Given the description of an element on the screen output the (x, y) to click on. 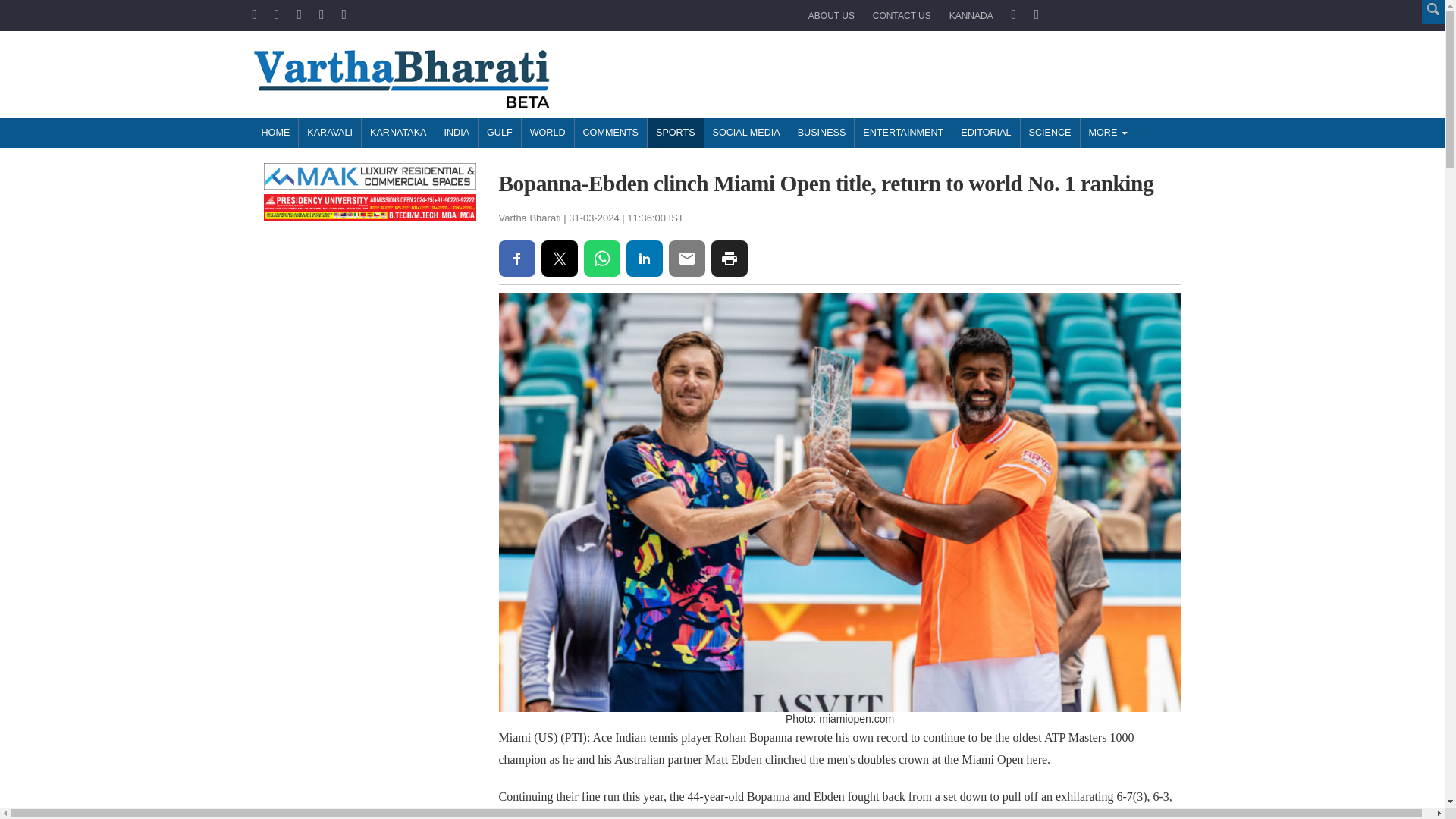
SPORTS (674, 132)
ENTERTAINMENT (902, 132)
KARAVALI (329, 132)
KANNADA (970, 15)
EDITORIAL (985, 132)
MORE (1107, 132)
WORLD (547, 132)
Home (274, 132)
Social Media (746, 132)
Editorial (985, 132)
